Given the description of an element on the screen output the (x, y) to click on. 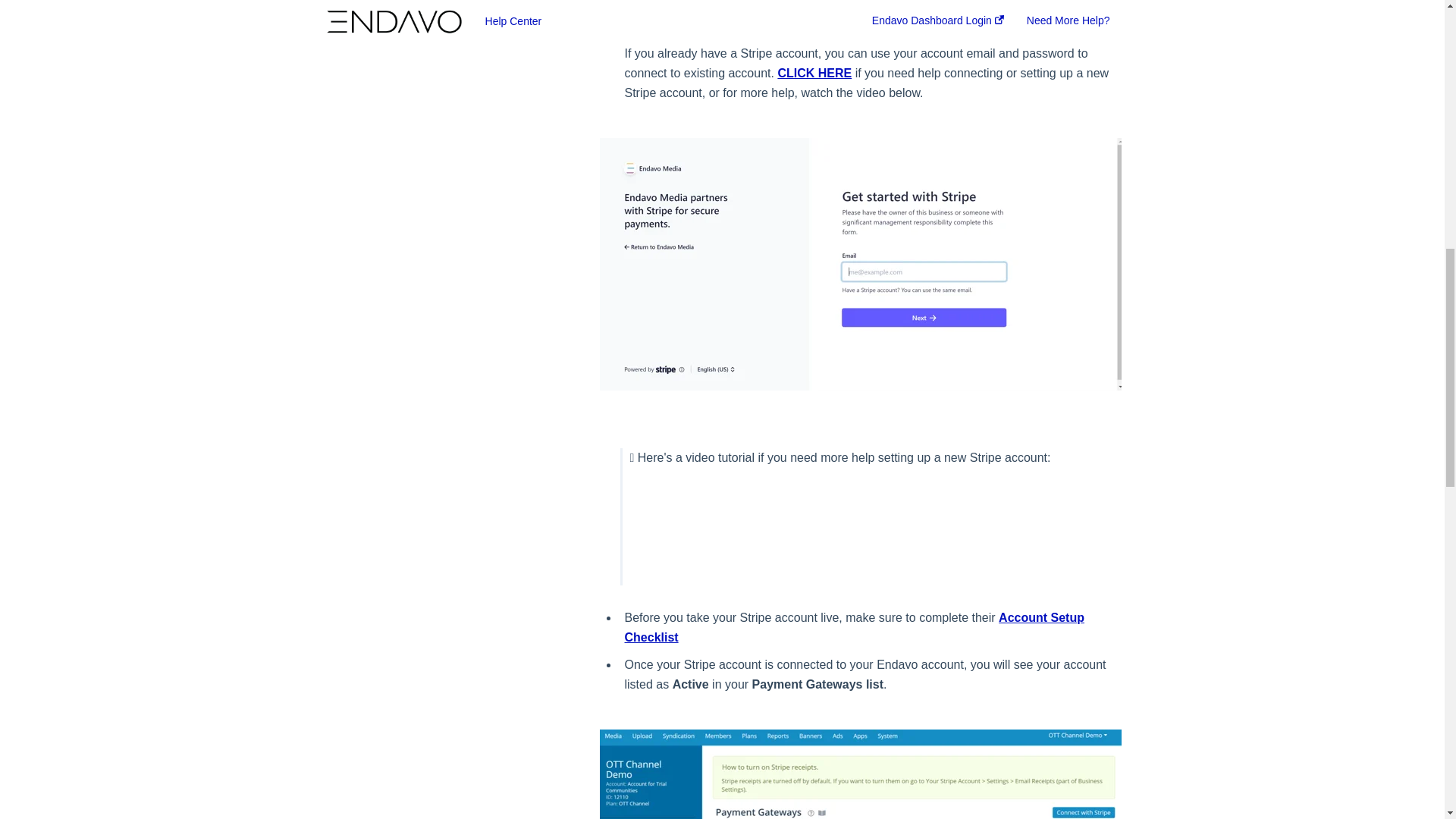
CLICK HERE (814, 72)
Creating or connecting your account (859, 530)
Account Setup Checklist (854, 626)
